Given the description of an element on the screen output the (x, y) to click on. 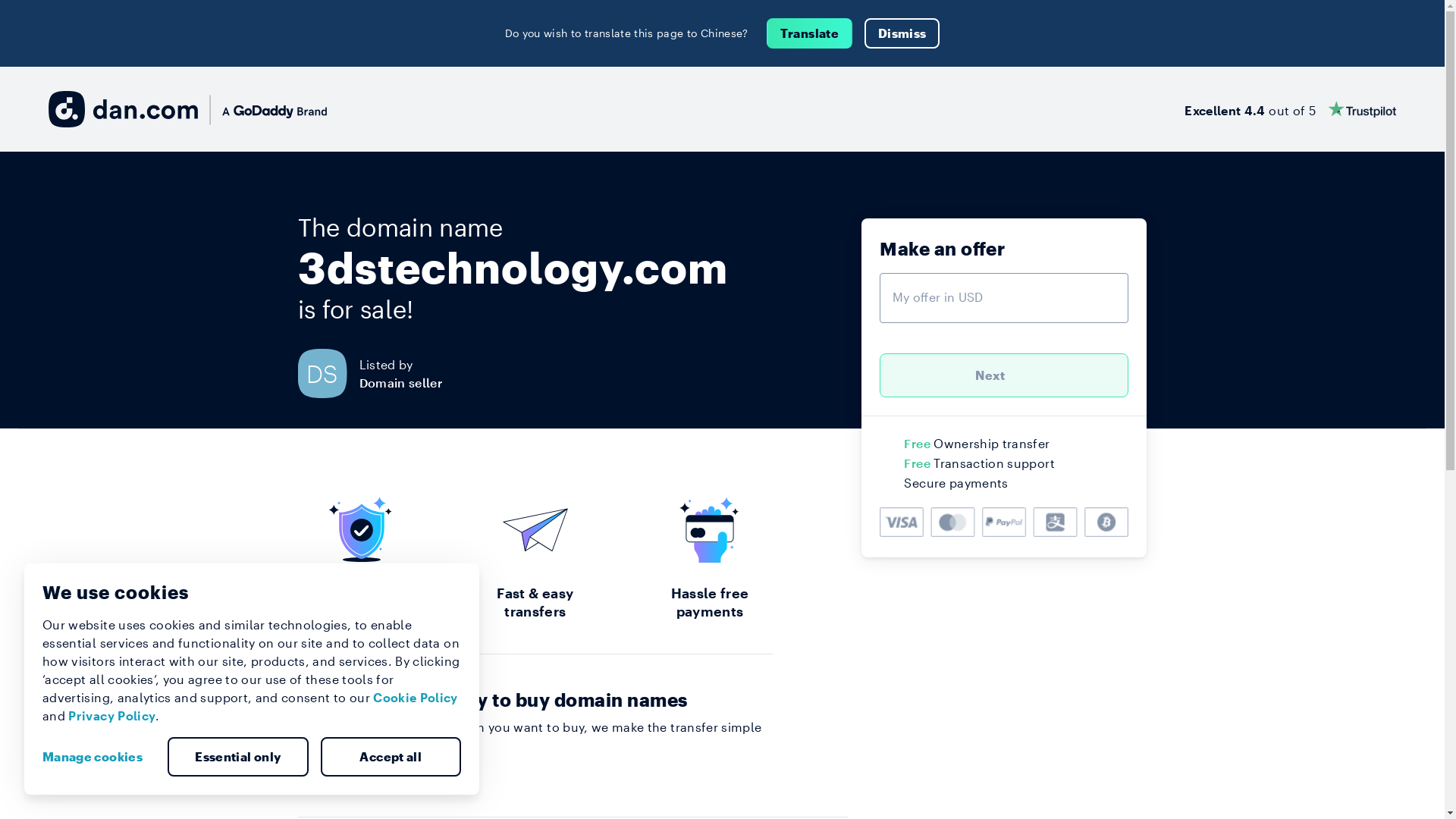
Dismiss Element type: text (901, 33)
Accept all Element type: text (390, 756)
Privacy Policy Element type: text (111, 715)
Essential only Element type: text (237, 756)
Cookie Policy Element type: text (415, 697)
Excellent 4.4 out of 5 Element type: text (1290, 109)
Manage cookies Element type: text (98, 756)
DS Element type: text (327, 373)
Translate Element type: text (809, 33)
Next
) Element type: text (1003, 375)
